Given the description of an element on the screen output the (x, y) to click on. 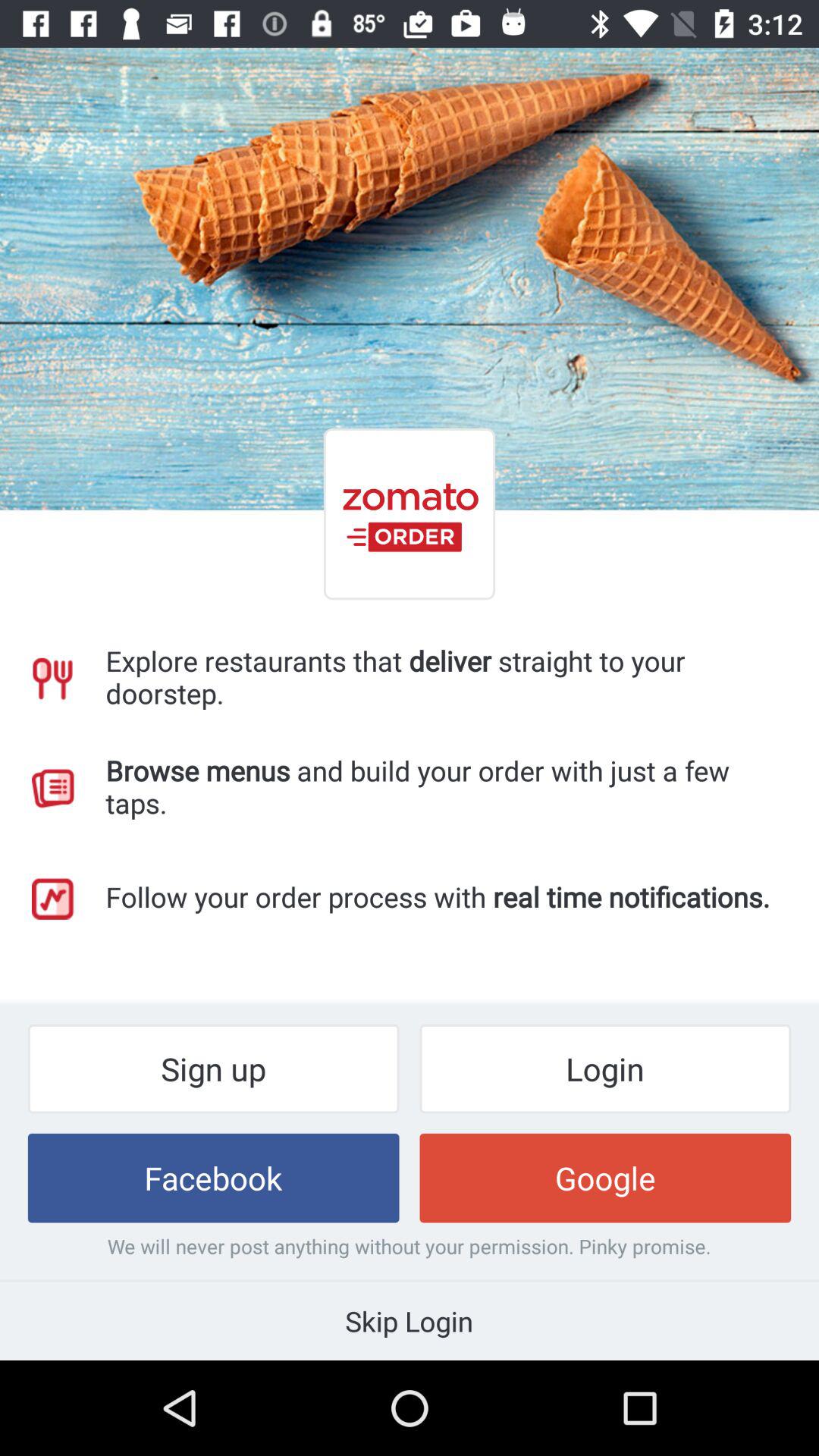
open the icon to the right of the facebook item (605, 1177)
